Given the description of an element on the screen output the (x, y) to click on. 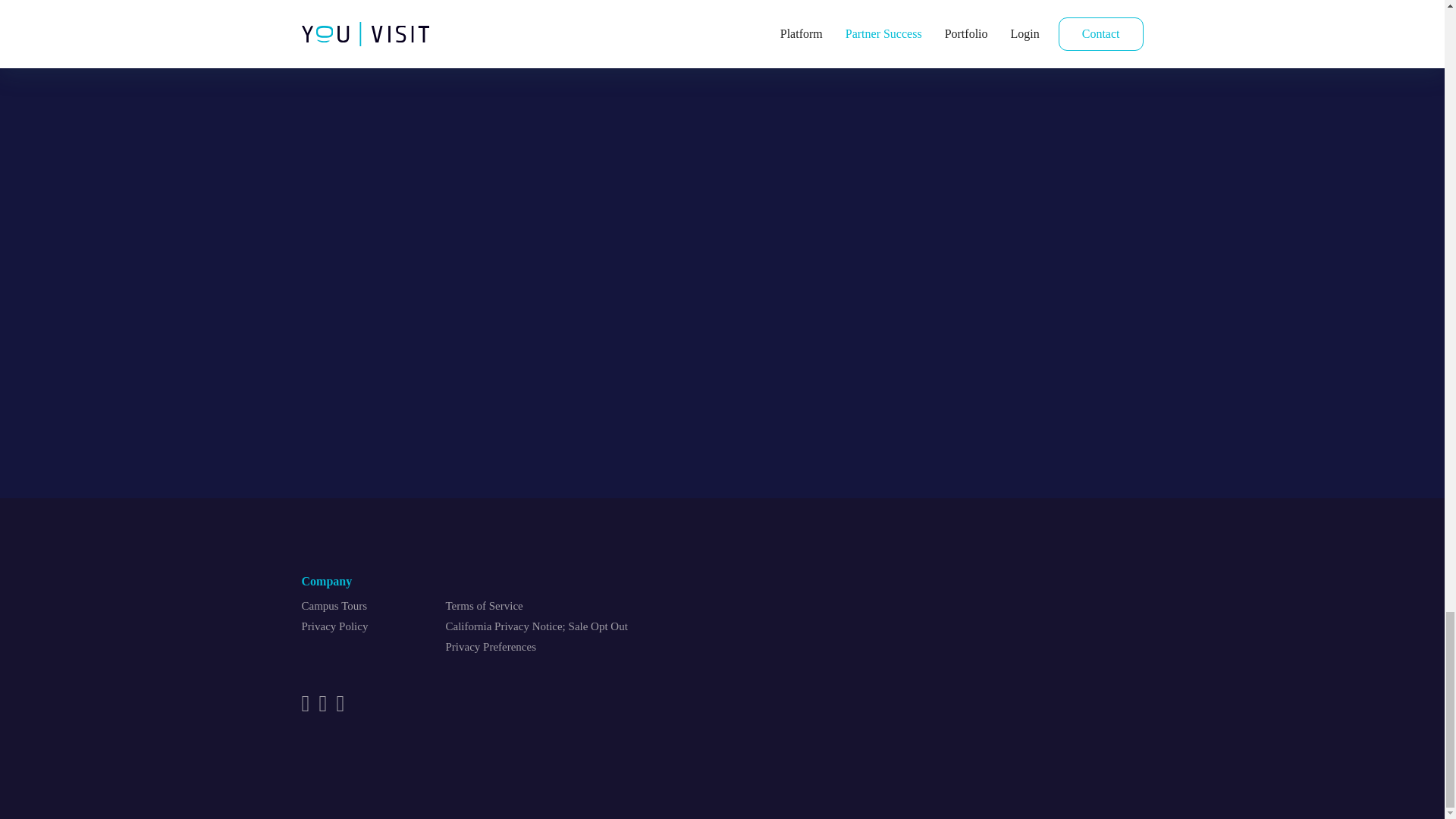
Campus Tours (334, 605)
California Privacy Notice; Sale Opt Out (536, 625)
Privacy Preferences (491, 646)
Terms of Service (483, 605)
Privacy Policy (334, 625)
